Given the description of an element on the screen output the (x, y) to click on. 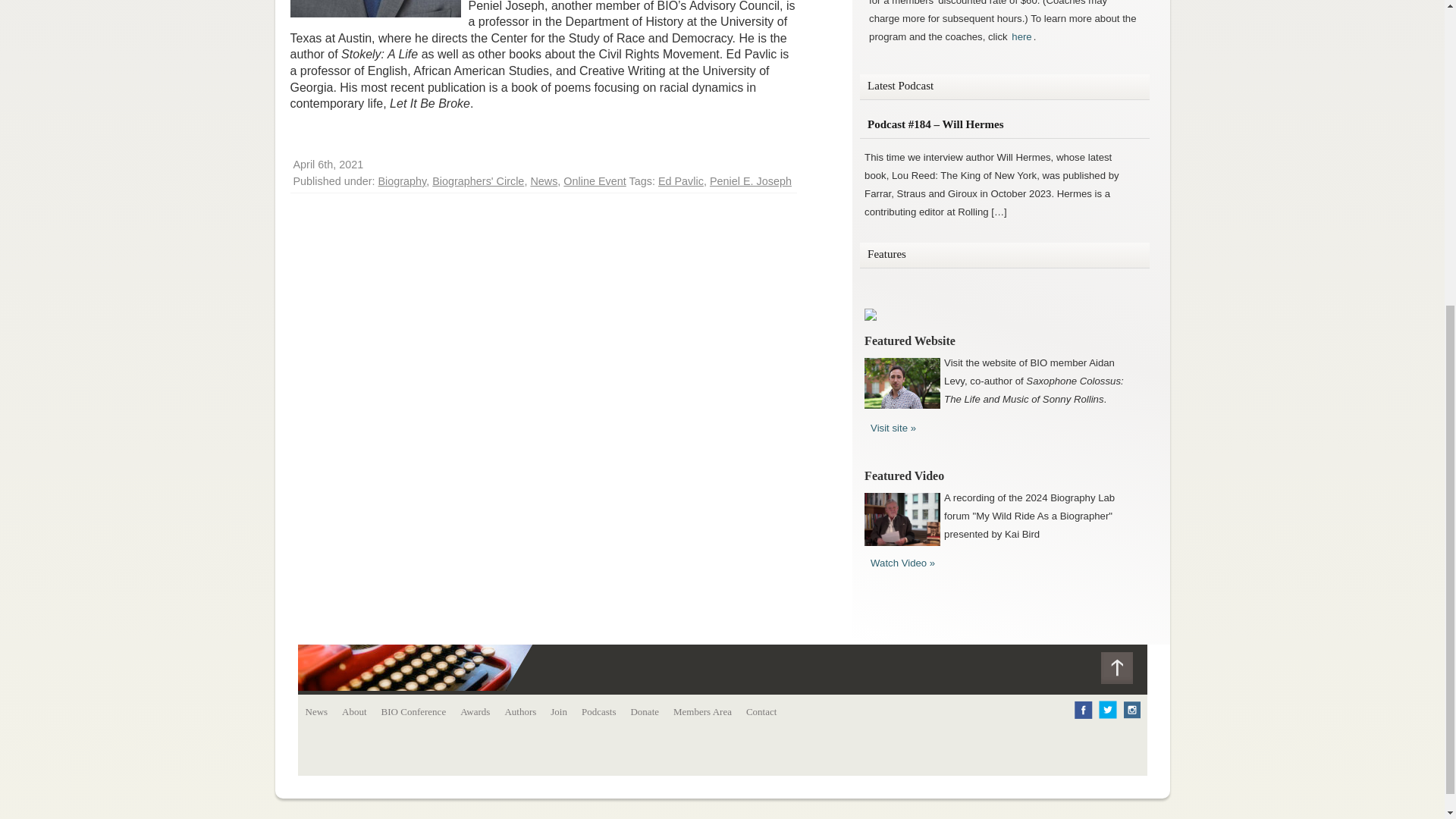
Follow us on Twitter (1106, 715)
Biography (402, 181)
View our Instagram Page (1131, 715)
Like us on Facebook (1083, 715)
Page Top (1123, 671)
